Given the description of an element on the screen output the (x, y) to click on. 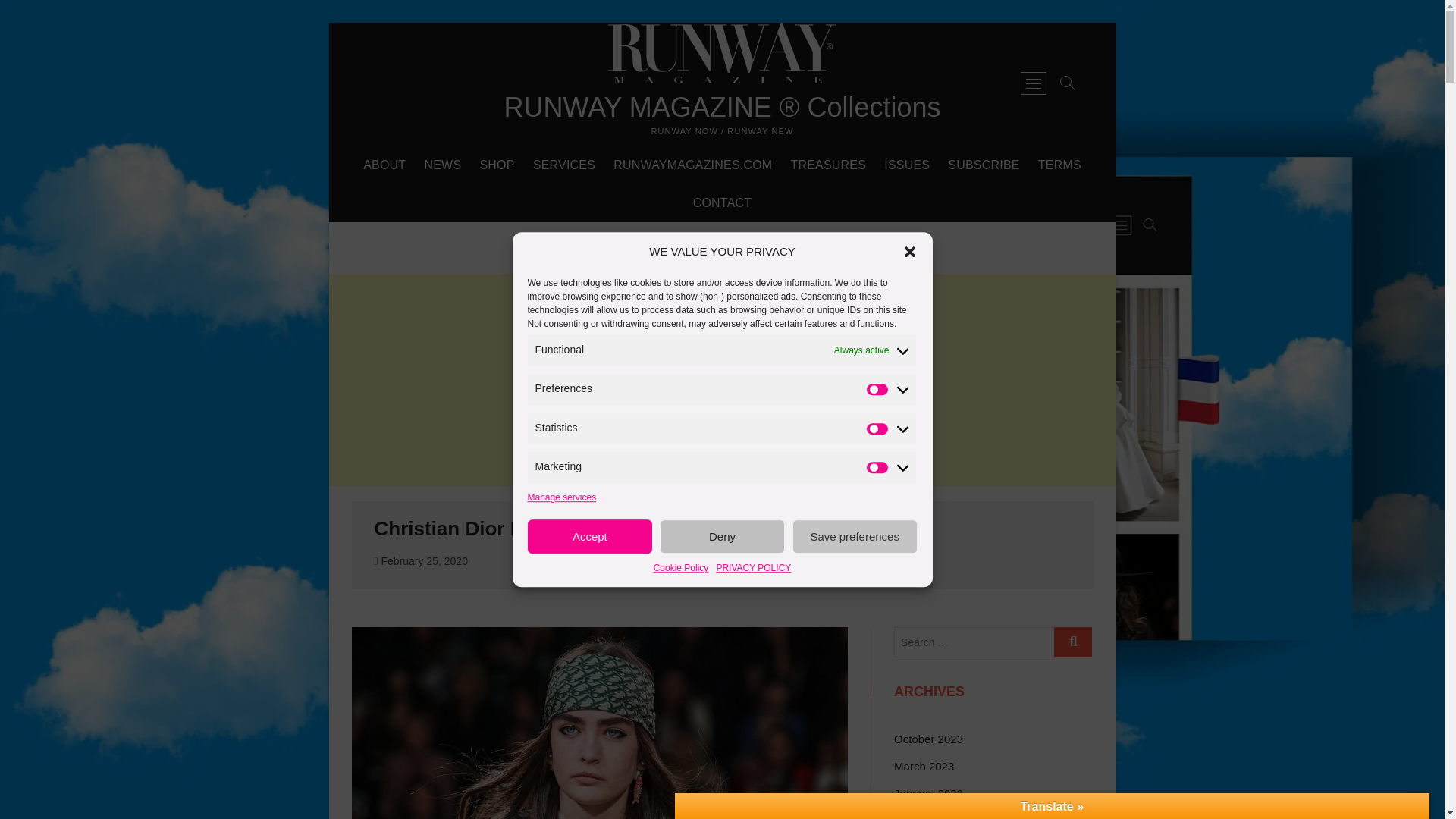
SHOP (496, 165)
PRIVACY POLICY (753, 567)
RUNWAYMAGAZINES.COM (691, 165)
Accept (589, 536)
SERVICES (563, 165)
NEWS (442, 165)
CONTACT (722, 202)
ISSUES (906, 165)
SUBSCRIBE (983, 165)
Cookie Policy (681, 567)
Deny (721, 536)
February 25, 2020 (420, 561)
Manage services (561, 497)
